Given the description of an element on the screen output the (x, y) to click on. 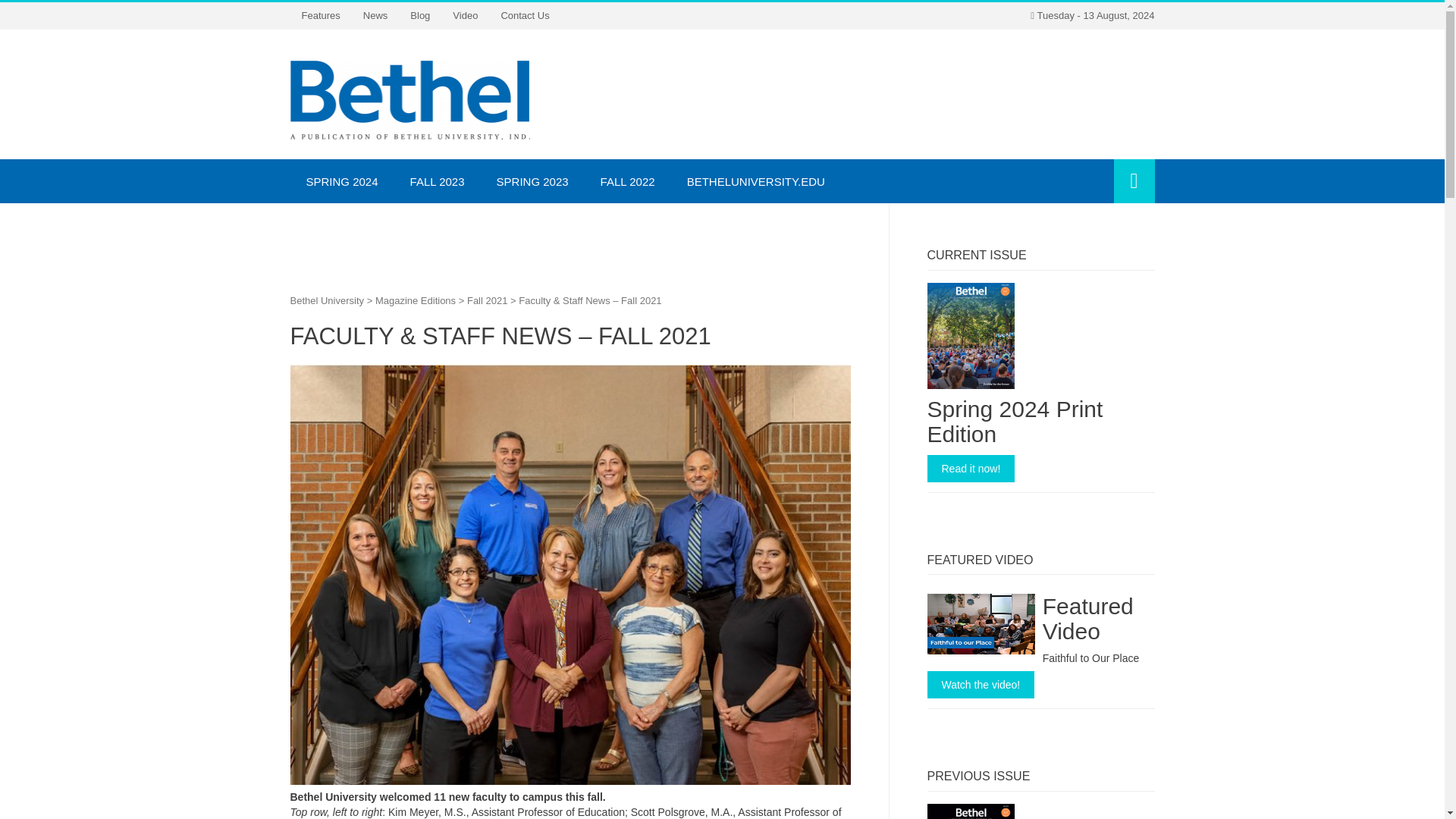
SPRING 2024 (341, 180)
Watch the video! (979, 684)
Blog (419, 15)
SPRING 2023 (532, 180)
FALL 2022 (628, 180)
BETHELUNIVERSITY.EDU (756, 180)
News (375, 15)
FALL 2023 (437, 180)
Read it now! (970, 468)
Fall 2021 (486, 300)
